Given the description of an element on the screen output the (x, y) to click on. 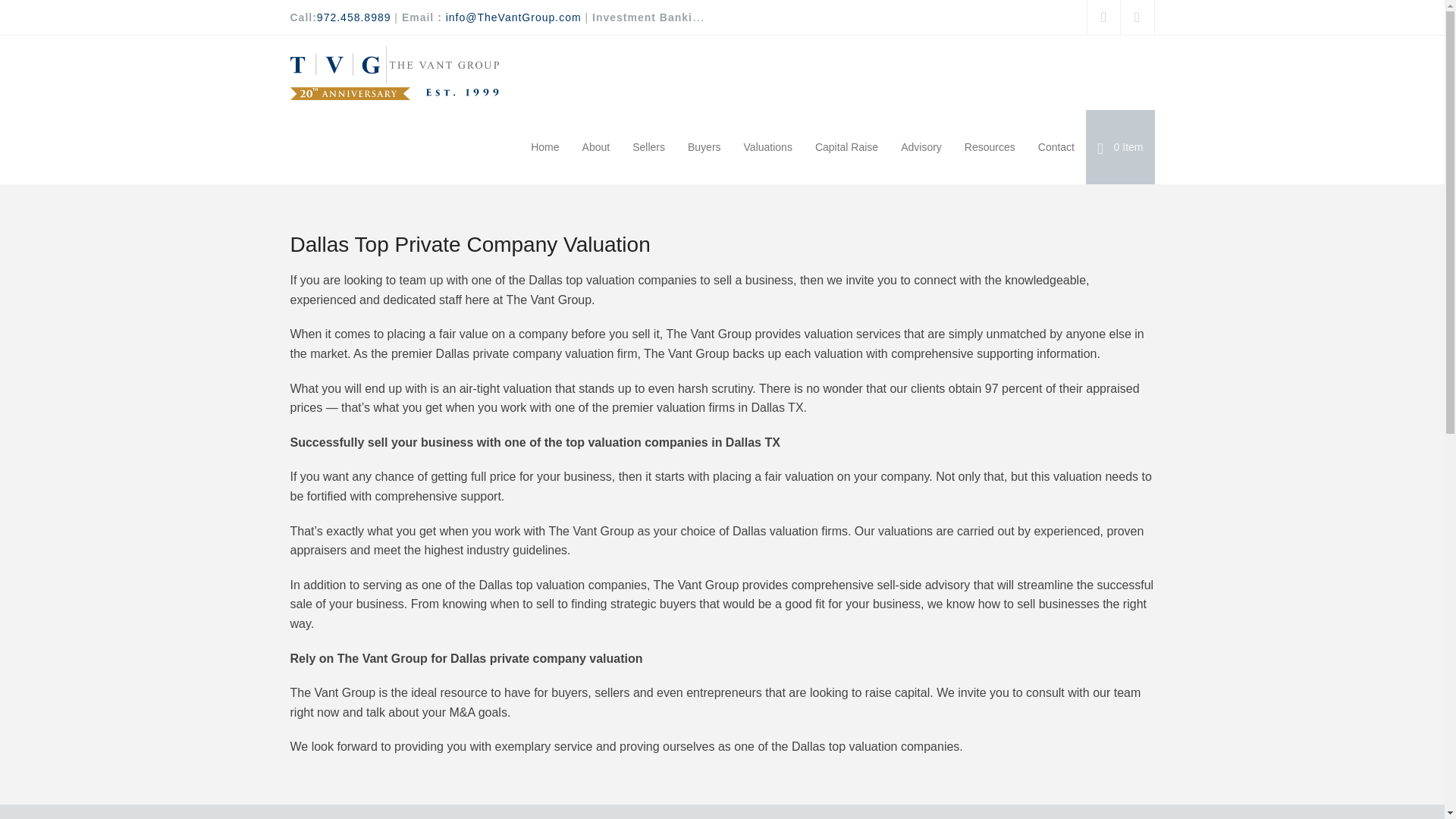
972.458.8989 (354, 17)
Capital Raise (846, 146)
The Vant Group (393, 72)
Resources (989, 146)
Valuations (767, 146)
